Given the description of an element on the screen output the (x, y) to click on. 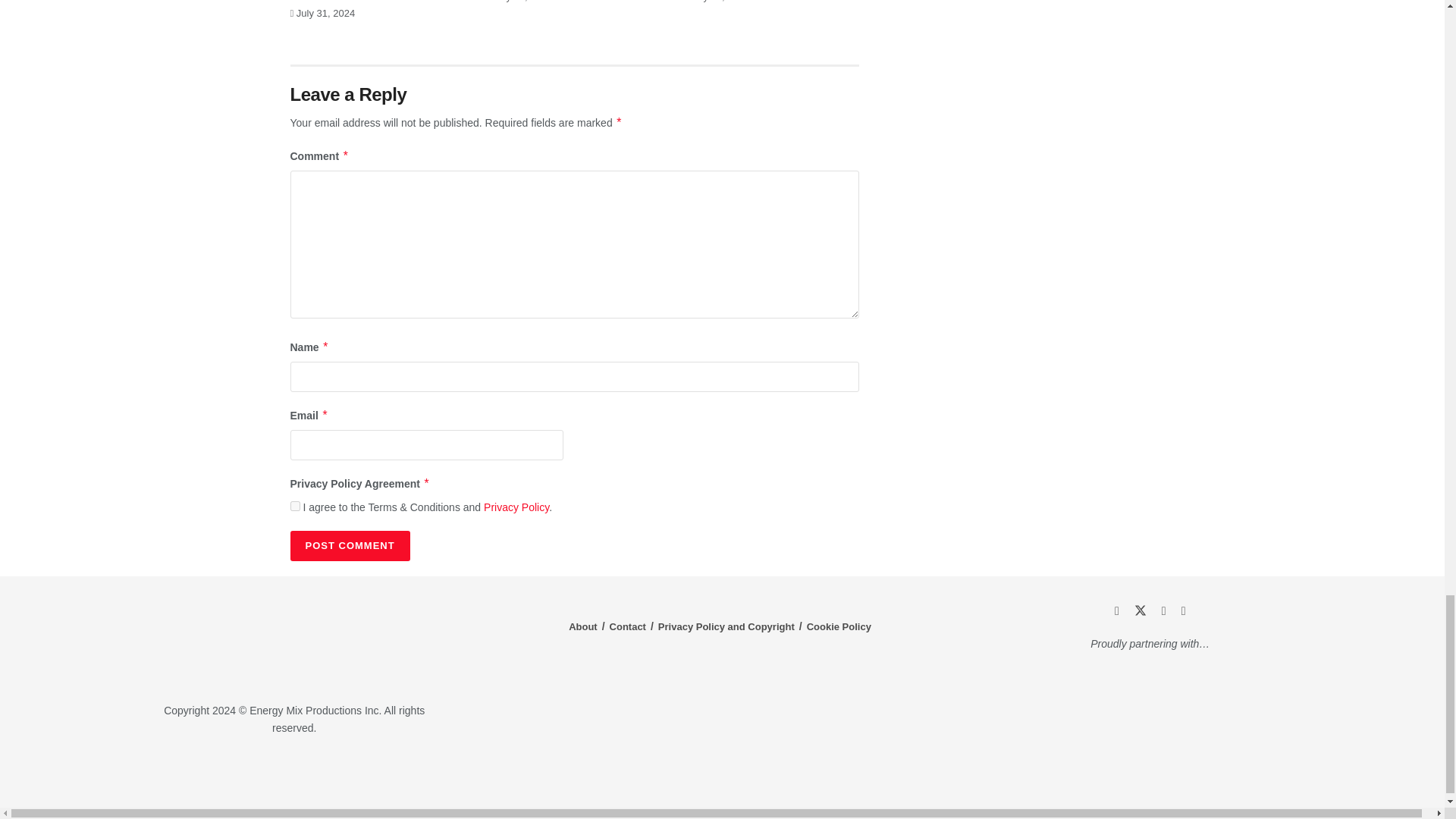
Climate-and-Capital (1221, 772)
Post Comment (349, 545)
on (294, 506)
tem-logo-2024 (294, 640)
